Given the description of an element on the screen output the (x, y) to click on. 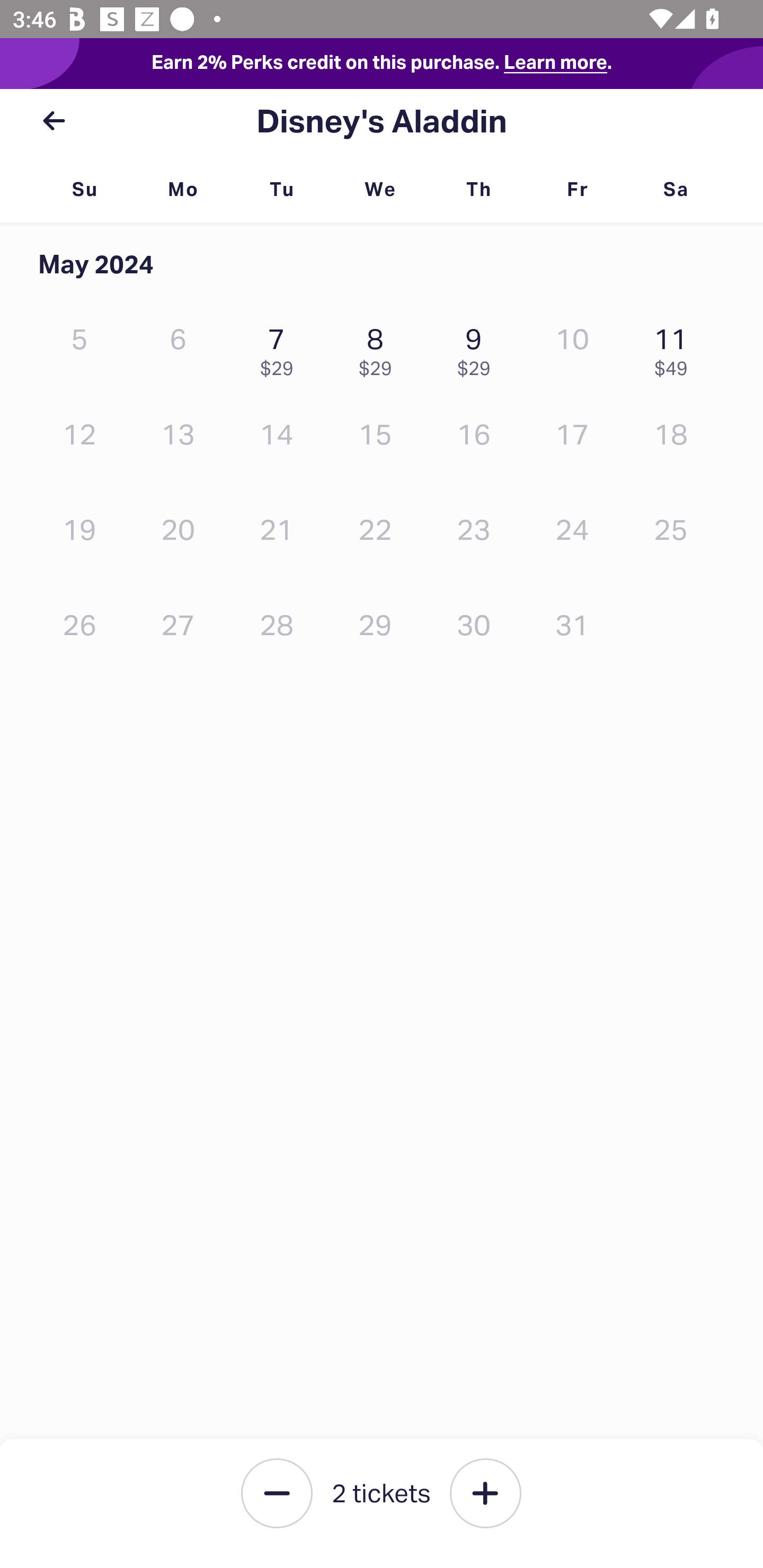
Earn 2% Perks credit on this purchase. Learn more. (381, 63)
back button (53, 120)
7 $29 (281, 347)
8 $29 (379, 347)
9 $29 (478, 347)
11 $49 (675, 347)
